Given the description of an element on the screen output the (x, y) to click on. 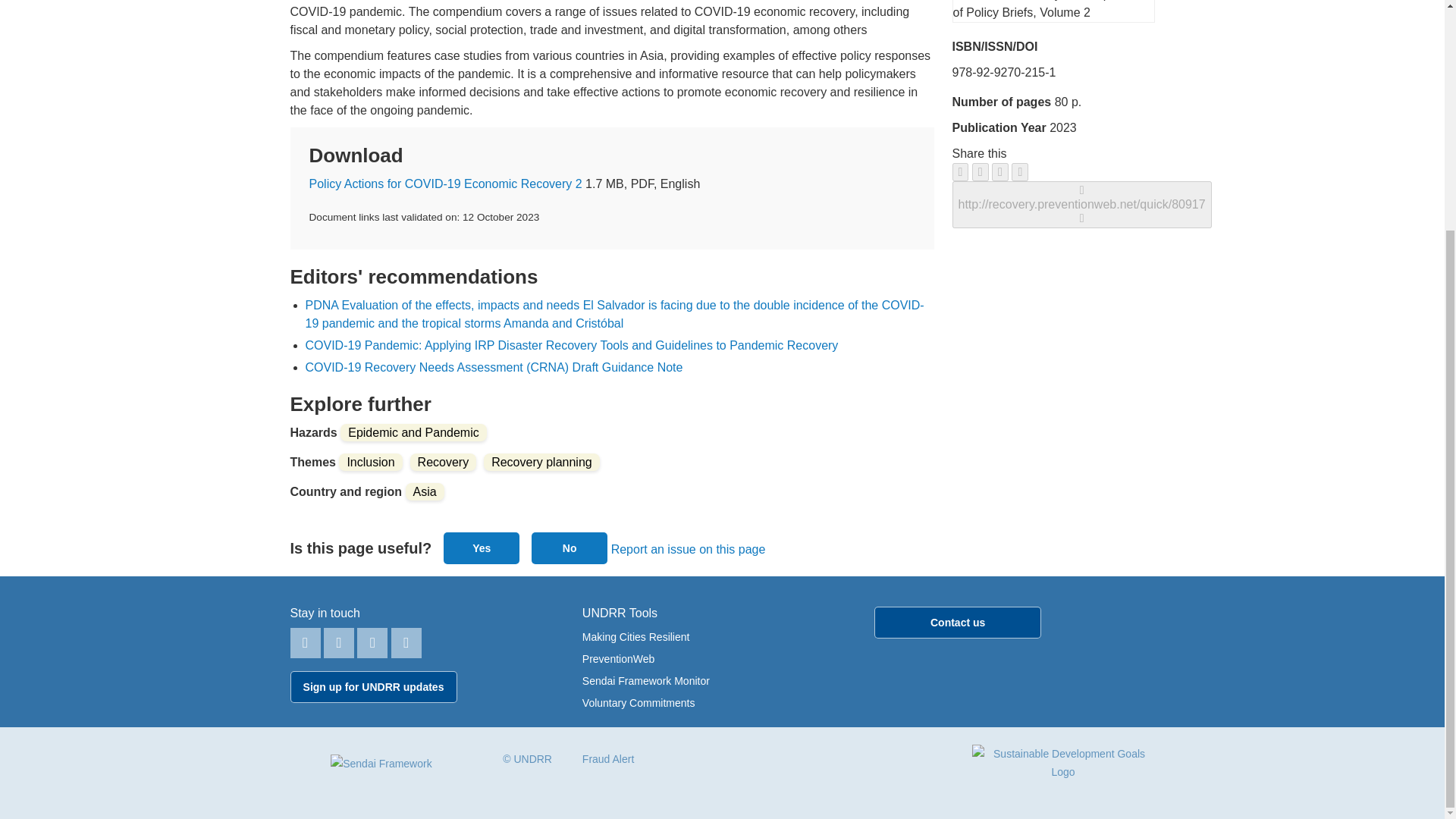
Share on Twitter (980, 171)
Copy to Clipboard (1081, 203)
Share on LinkedIn (1000, 171)
Sendai Voluntary Commitments tool (638, 702)
Share on Facebook (960, 171)
Share via Email (1019, 171)
